Given the description of an element on the screen output the (x, y) to click on. 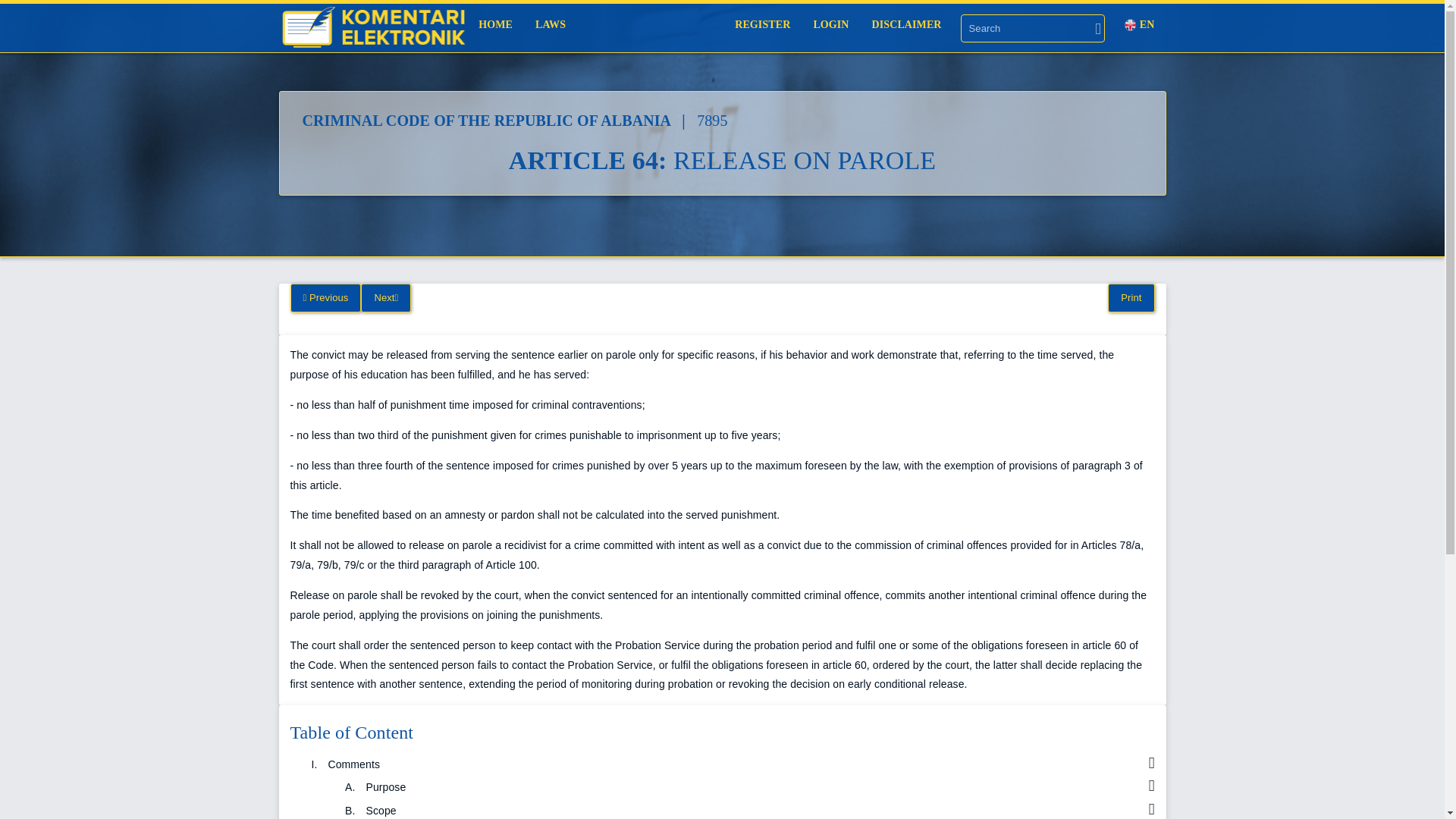
LAWS (550, 24)
Print (1131, 297)
Previous (325, 297)
REGISTER (762, 24)
EN (1139, 24)
Next (385, 297)
HOME (495, 24)
DISCLAIMER (373, 28)
LOGIN (906, 24)
